Given the description of an element on the screen output the (x, y) to click on. 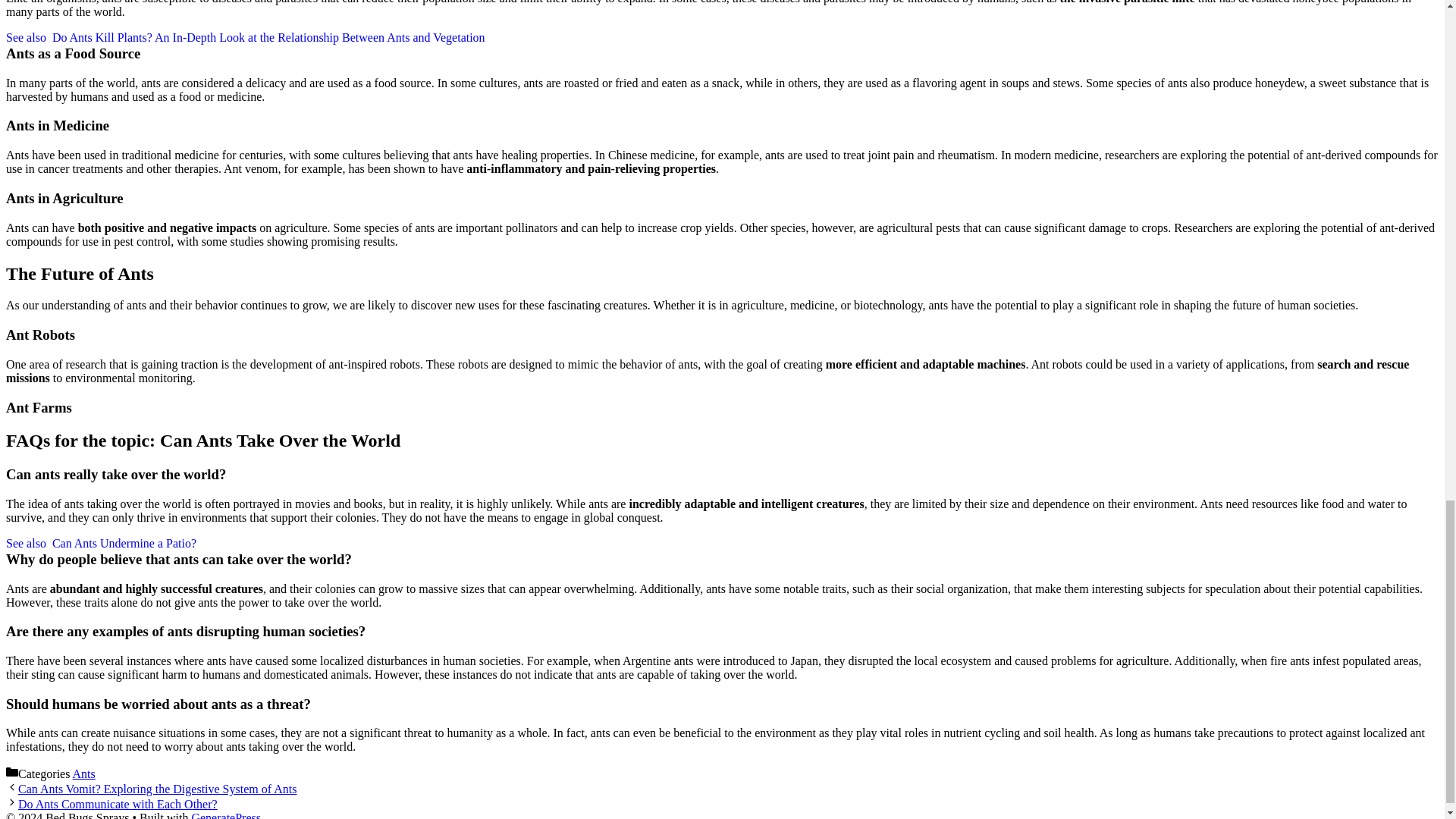
Ants (84, 773)
Can Ants Vomit? Exploring the Digestive System of Ants (157, 788)
Do Ants Communicate with Each Other? (116, 803)
